Given the description of an element on the screen output the (x, y) to click on. 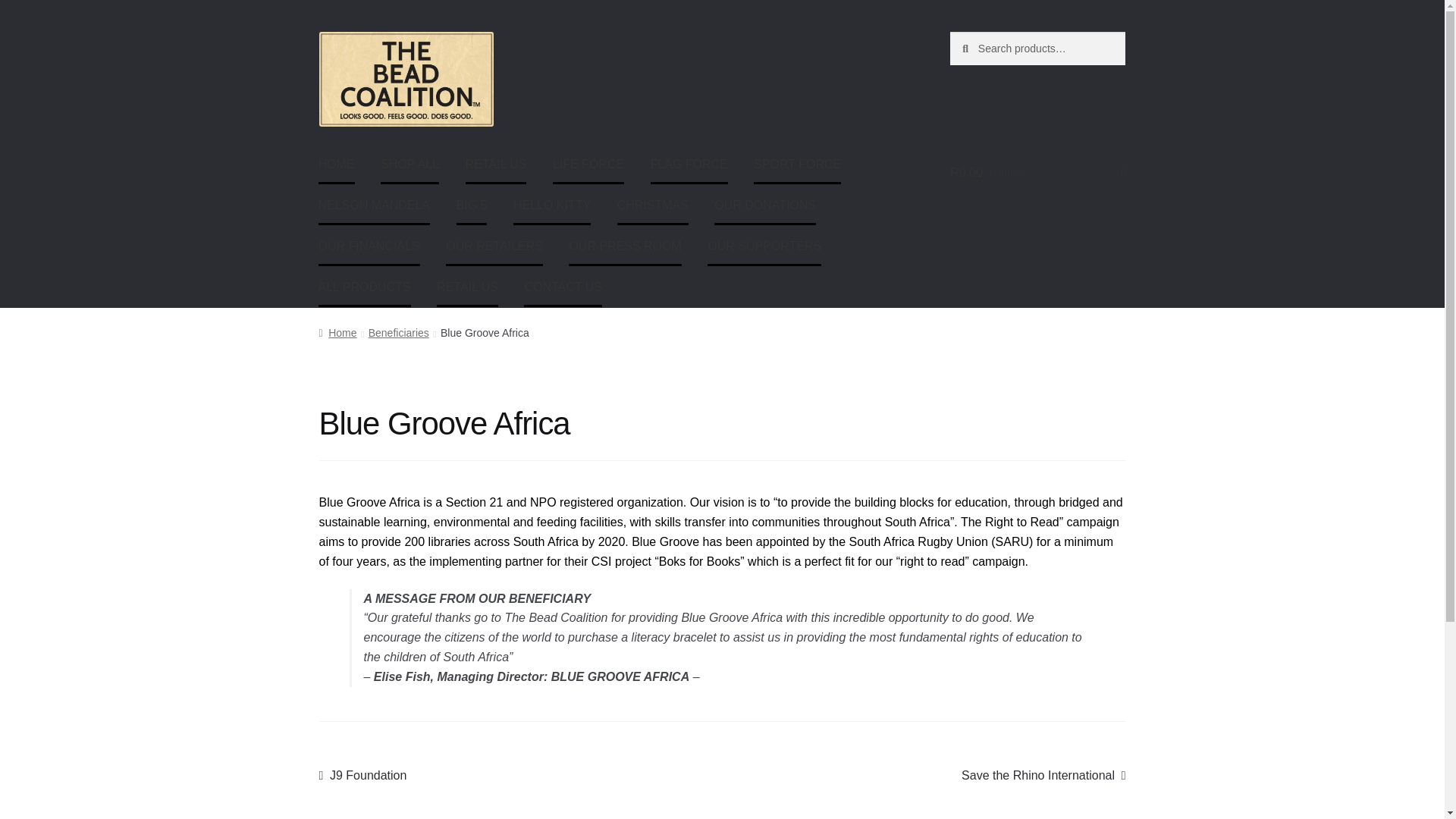
View your shopping cart (1037, 172)
CONTACT US (563, 288)
OUR SUPPORTERS (764, 247)
HELLO KITTY (552, 206)
CHRISTMAS (652, 206)
NELSON MANDELA (374, 206)
OUR PRESS ROOM (625, 247)
RETAIL US (496, 165)
HOME (336, 165)
